Given the description of an element on the screen output the (x, y) to click on. 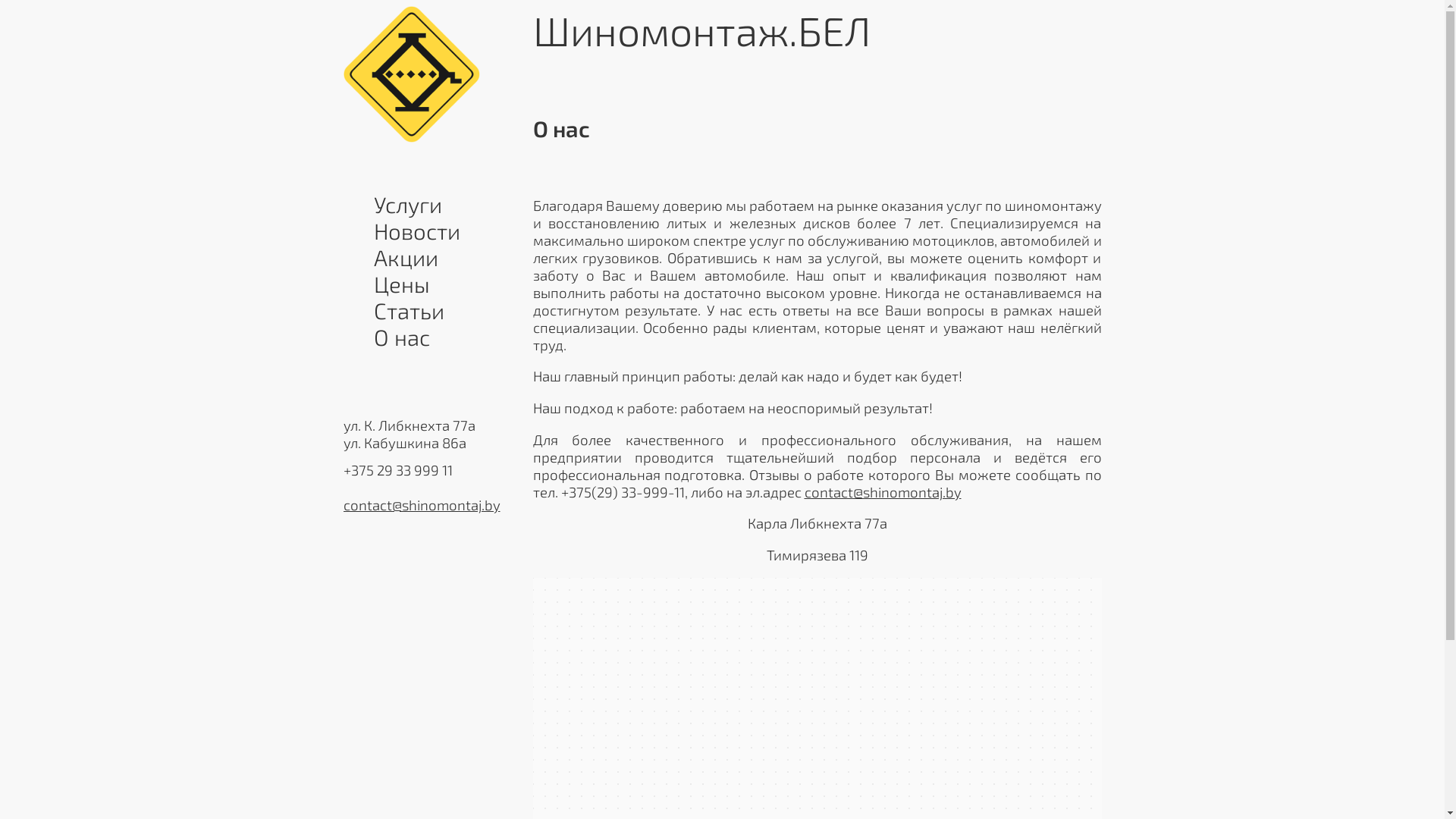
contact@shinomontaj.by Element type: text (881, 491)
contact@shinomontaj.by Element type: text (420, 504)
